Given the description of an element on the screen output the (x, y) to click on. 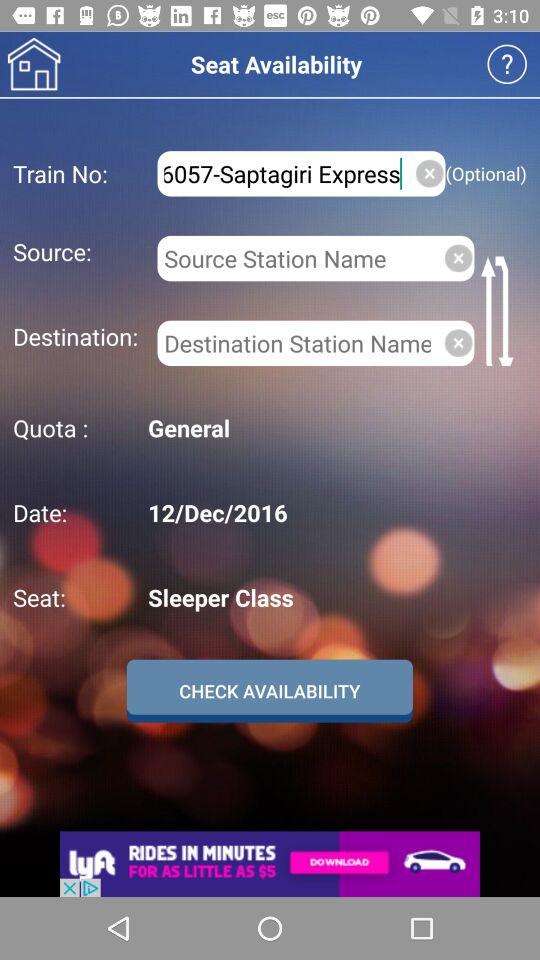
turn on the general icon (333, 427)
